Given the description of an element on the screen output the (x, y) to click on. 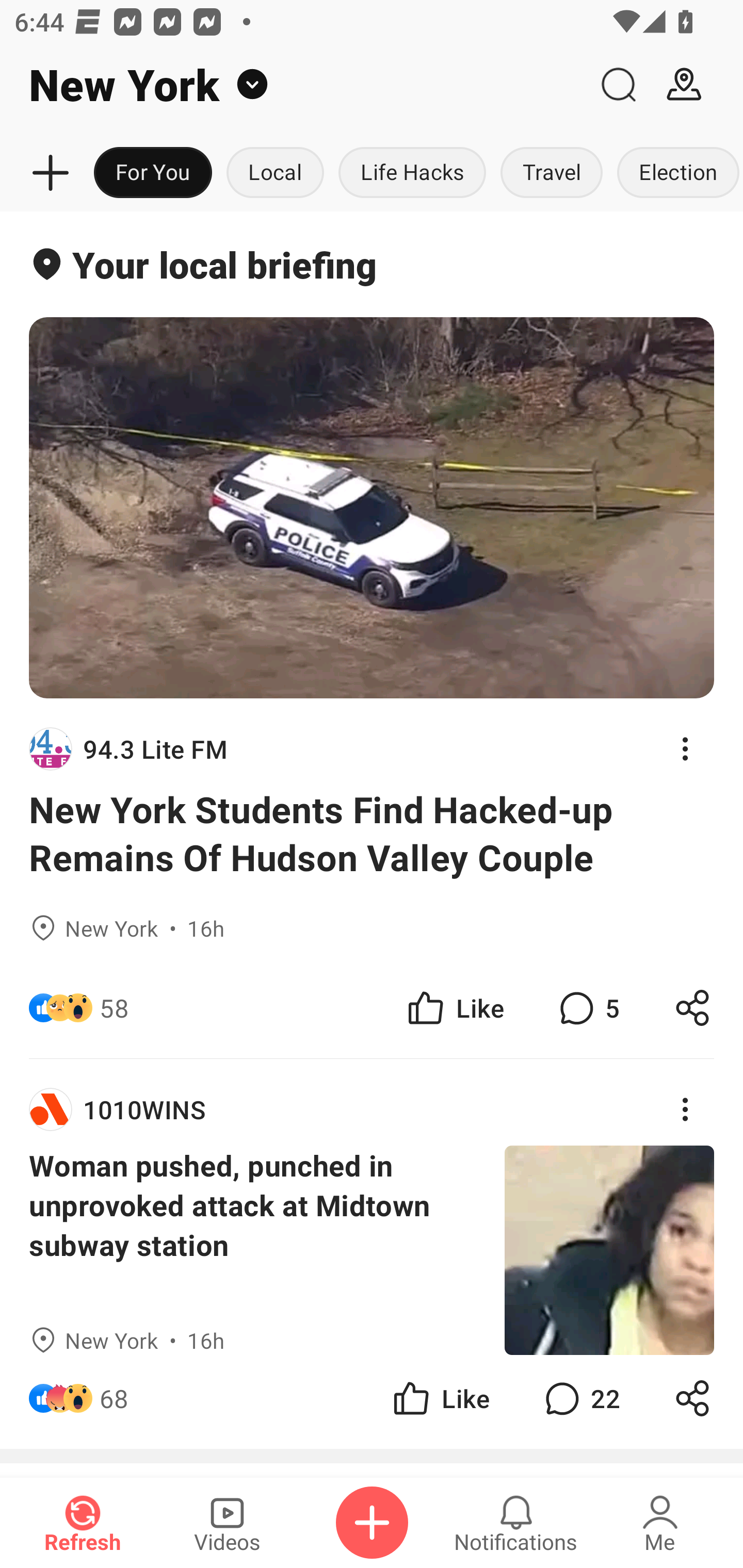
New York (292, 84)
For You (152, 172)
Local (275, 172)
Life Hacks (412, 172)
Travel (551, 172)
Election (676, 172)
58 (114, 1007)
Like (454, 1007)
5 (587, 1007)
68 (113, 1397)
Like (439, 1397)
22 (579, 1397)
Videos (227, 1522)
Notifications (516, 1522)
Me (659, 1522)
